Given the description of an element on the screen output the (x, y) to click on. 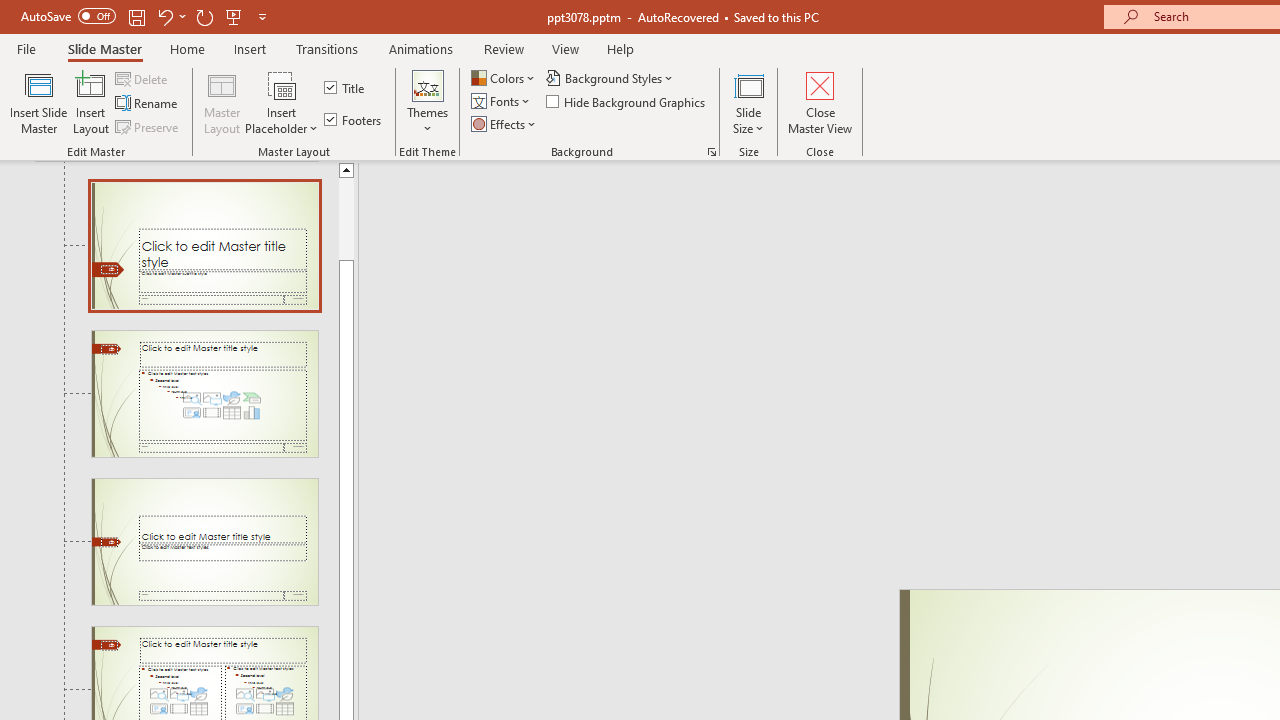
Colors (504, 78)
Effects (505, 124)
Slide Master (104, 48)
Slide Section Header Layout: used by no slides (204, 541)
Footers (354, 119)
